Given the description of an element on the screen output the (x, y) to click on. 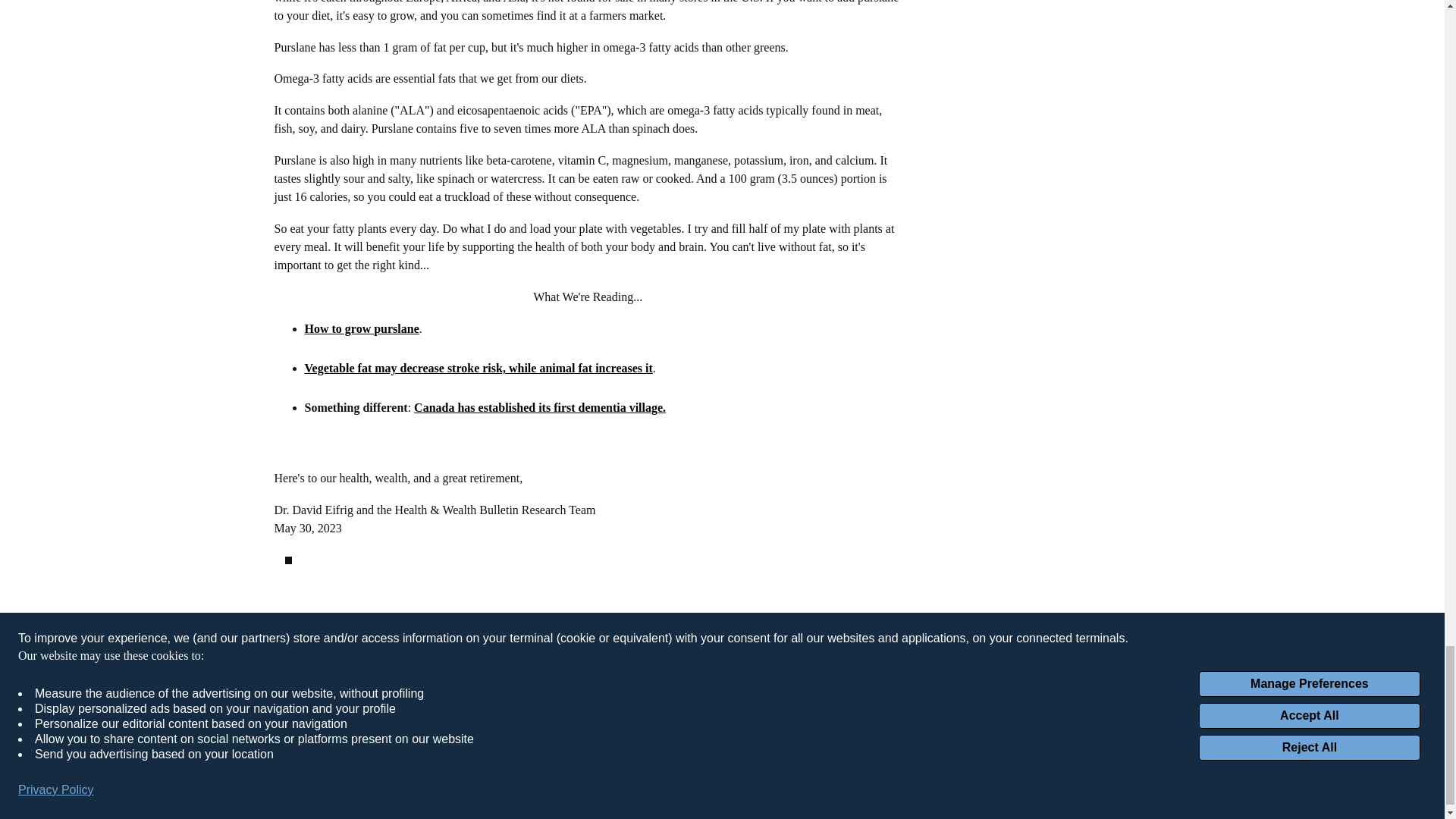
Daily Wealth (486, 652)
Contact Us (641, 672)
How to grow purslane (361, 328)
Privacy Policy (807, 652)
Investor Hour (488, 672)
DMCA (790, 672)
Stansberry Research (506, 691)
Canada has established its first dementia village. (539, 407)
About the Letter (653, 652)
Whitelisting Us (650, 691)
